Given the description of an element on the screen output the (x, y) to click on. 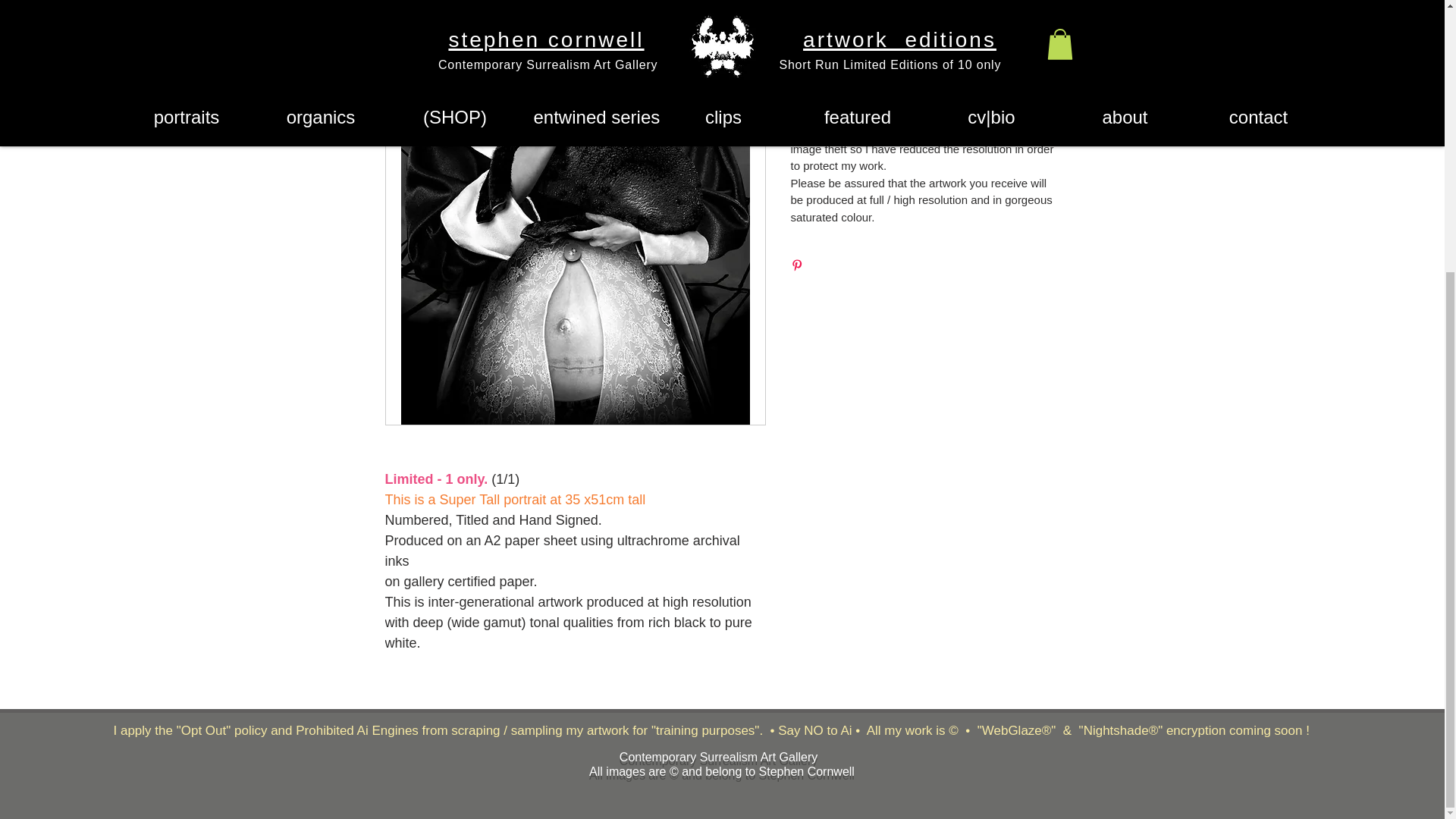
Buy Now (924, 12)
Image Website Resolution (924, 68)
